Given the description of an element on the screen output the (x, y) to click on. 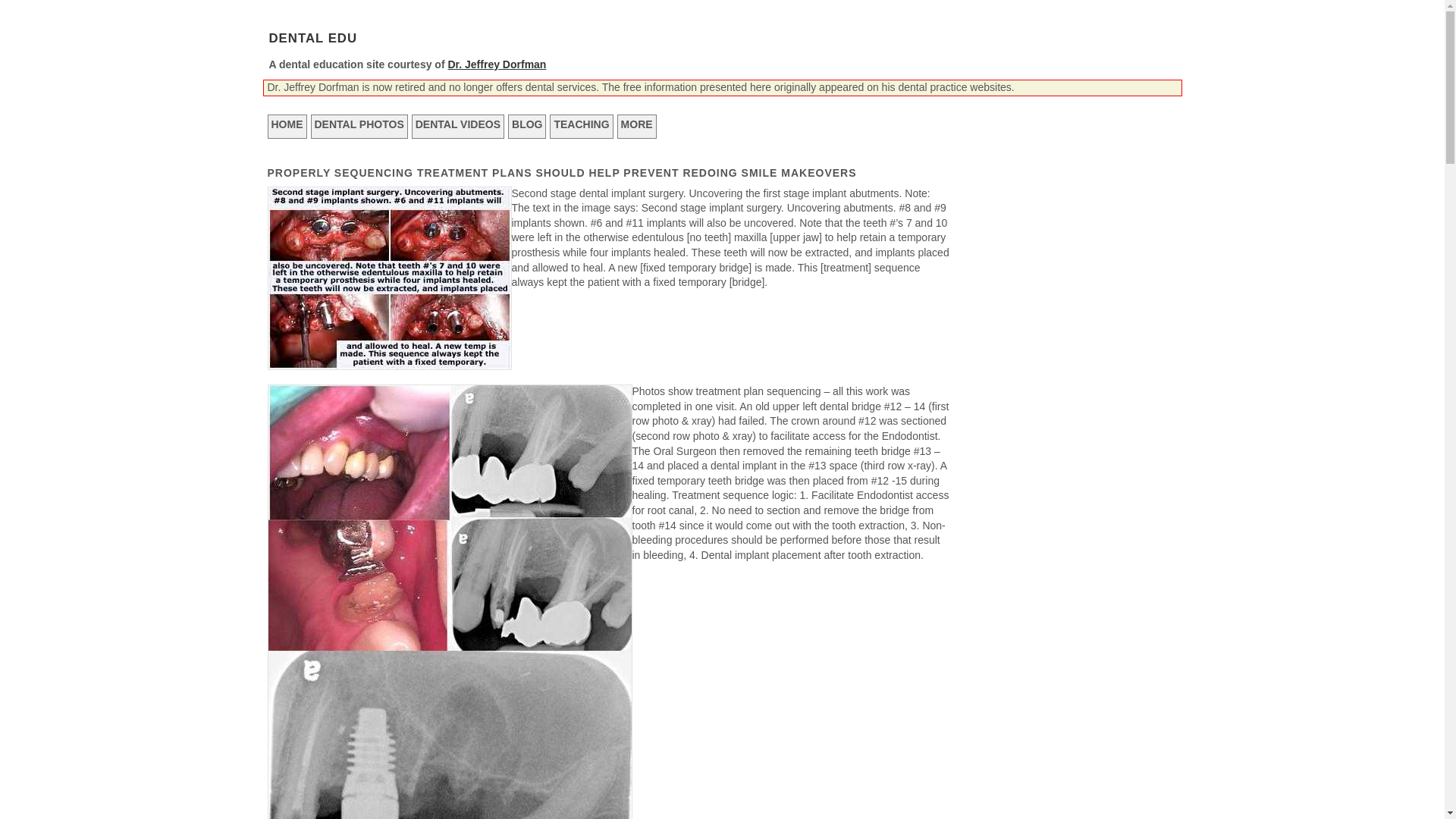
DENTAL PHOTOS (359, 126)
HOME (285, 126)
BLOG (527, 126)
DENTAL EDU (311, 38)
MORE (636, 126)
Dr. Jeffrey Dorfman (496, 64)
DENTAL VIDEOS (457, 126)
TEACHING (581, 126)
